Given the description of an element on the screen output the (x, y) to click on. 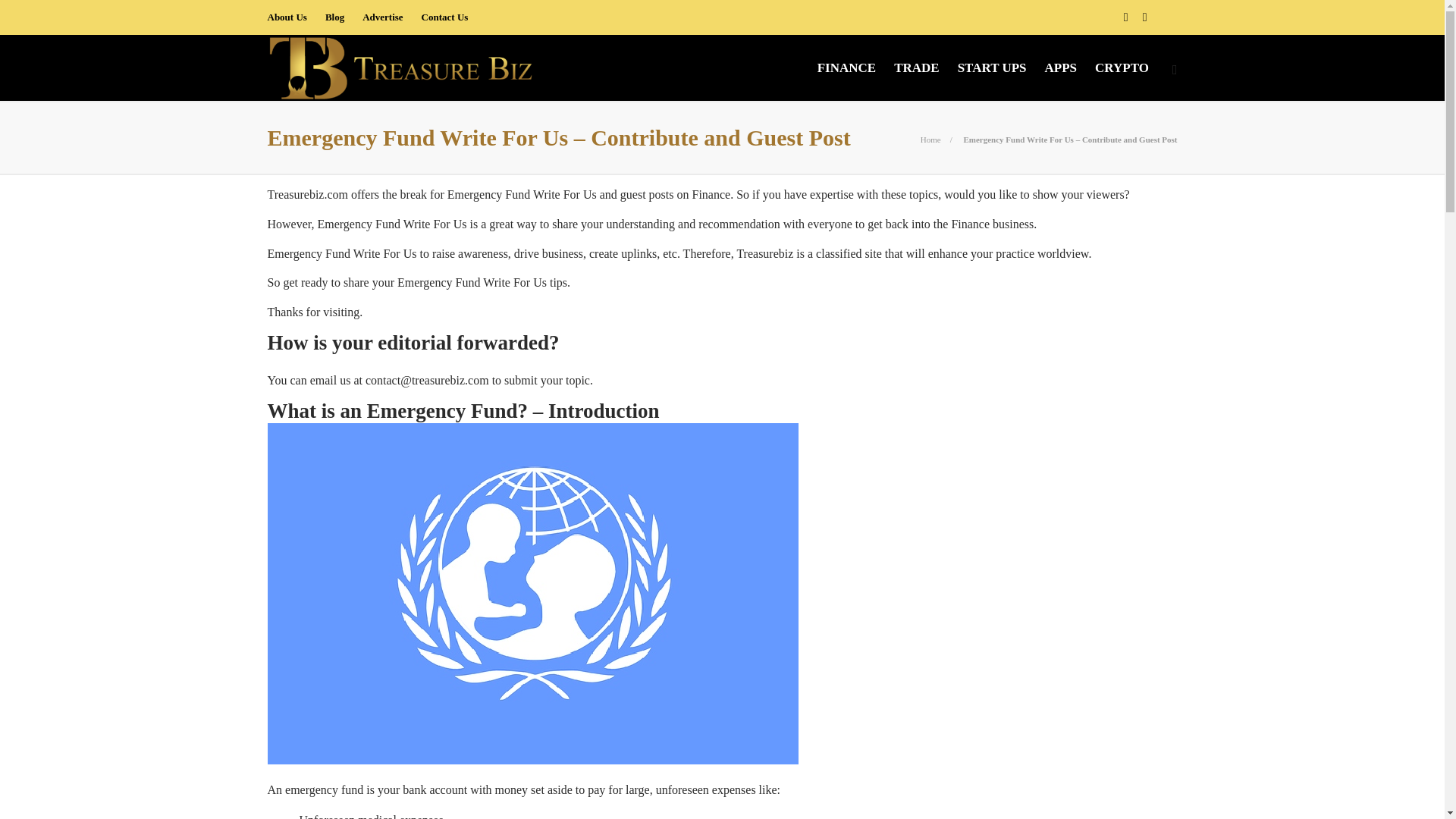
APPS (1061, 68)
Home (930, 139)
Advertise (382, 17)
Contact Us (445, 17)
START UPS (992, 68)
CRYPTO (1121, 68)
Blog (333, 17)
TRADE (916, 68)
FINANCE (846, 68)
About Us (285, 17)
Home (930, 139)
